Given the description of an element on the screen output the (x, y) to click on. 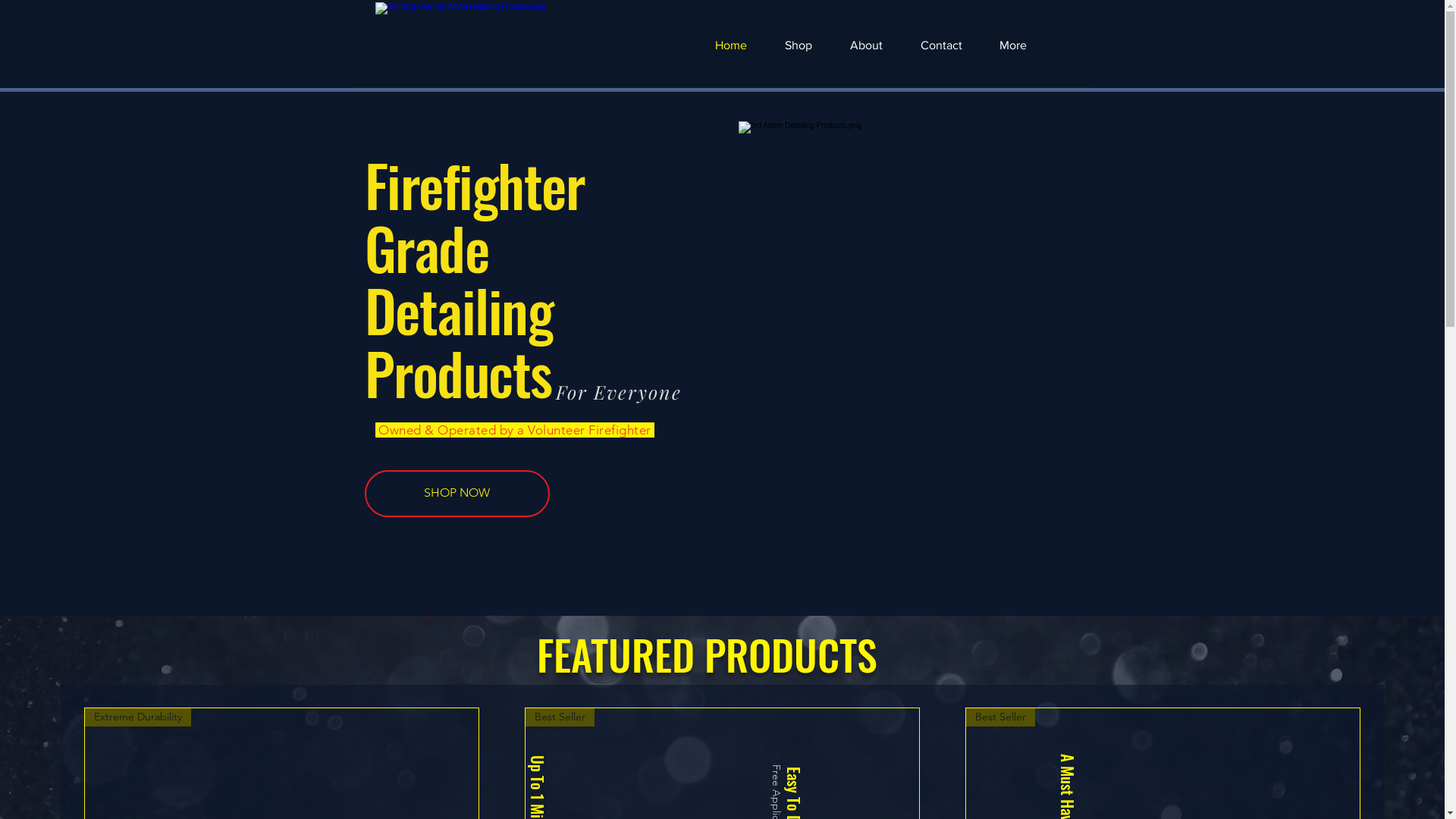
About Element type: text (866, 45)
Contact Element type: text (940, 45)
Home Element type: text (730, 45)
Shop Element type: text (798, 45)
SHOP NOW Element type: text (456, 493)
